Given the description of an element on the screen output the (x, y) to click on. 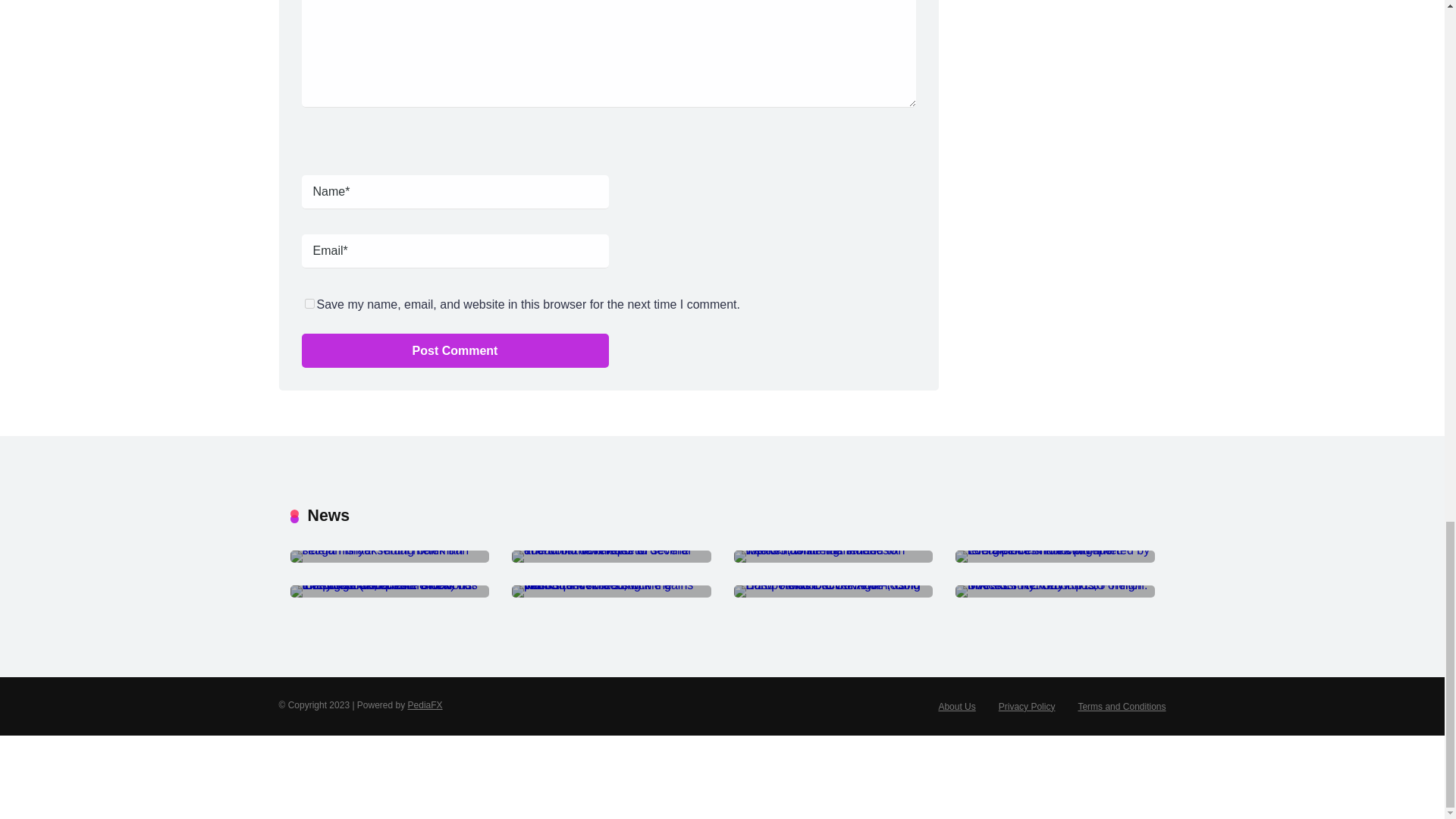
yes (309, 303)
Post Comment (454, 350)
Post Comment (454, 350)
